Given the description of an element on the screen output the (x, y) to click on. 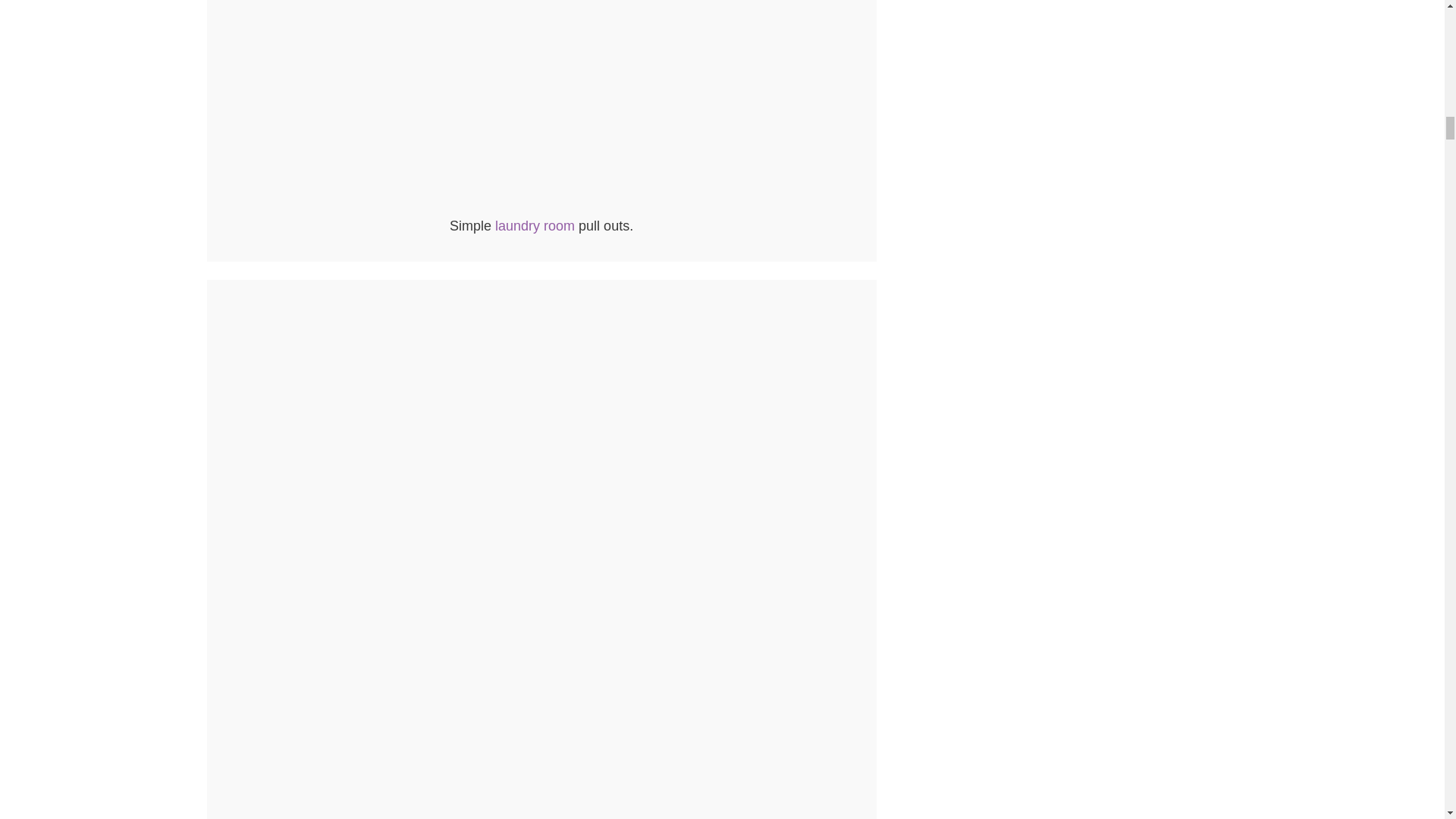
pull out drawers (541, 205)
laundry room (535, 225)
pull out drawers (541, 105)
